Given the description of an element on the screen output the (x, y) to click on. 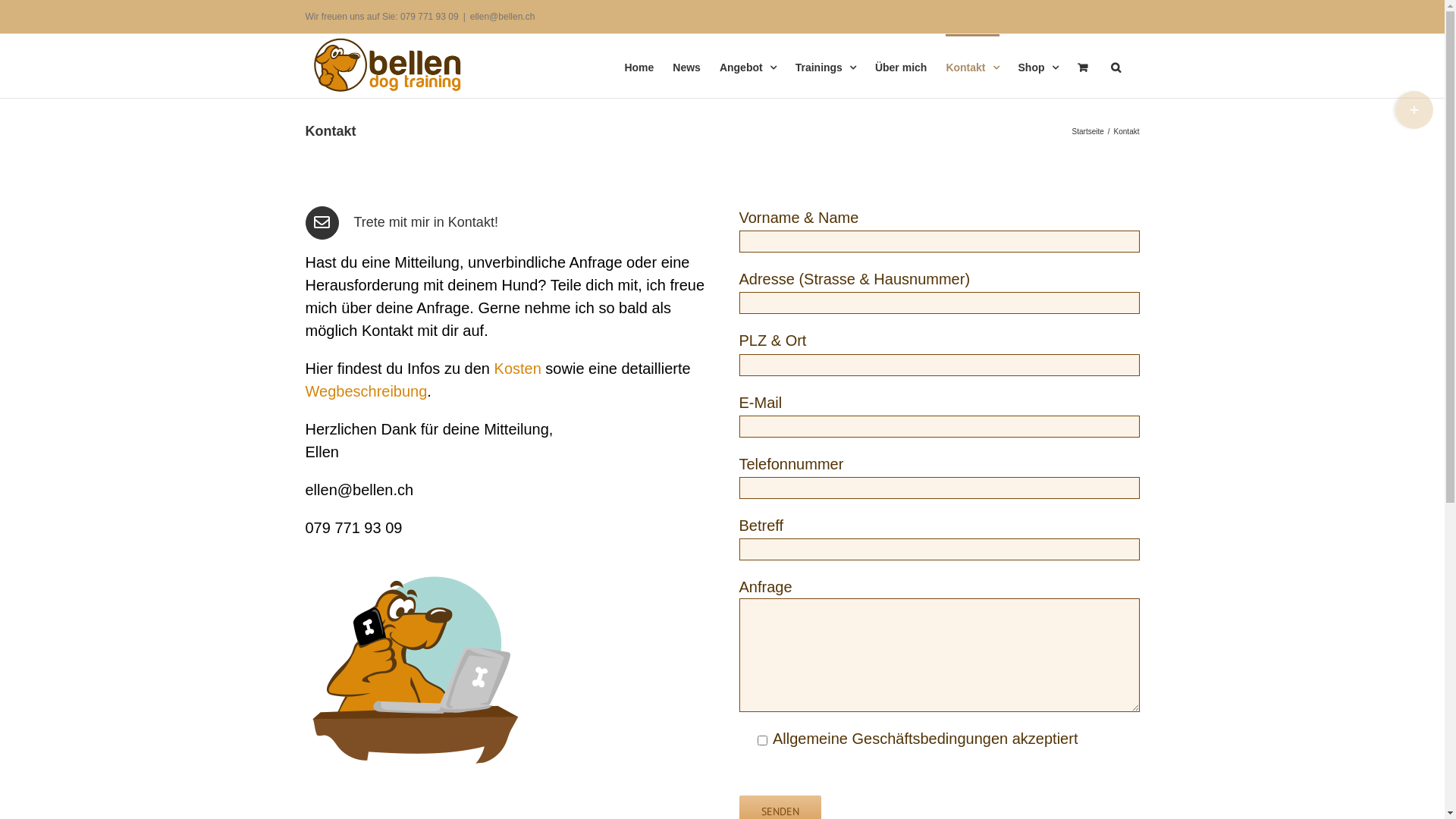
ellen@bellen.ch Element type: text (502, 16)
Trainings Element type: text (825, 65)
Kontakt Element type: text (971, 65)
Startseite Element type: text (1088, 131)
Angebot Element type: text (747, 65)
Shop Element type: text (1037, 65)
Toggle Sliding Bar Area Element type: text (1414, 109)
Kosten Element type: text (517, 368)
Home Element type: text (638, 65)
News Element type: text (686, 65)
Wegbeschreibung Element type: text (365, 390)
Suche Element type: hover (1115, 65)
